Given the description of an element on the screen output the (x, y) to click on. 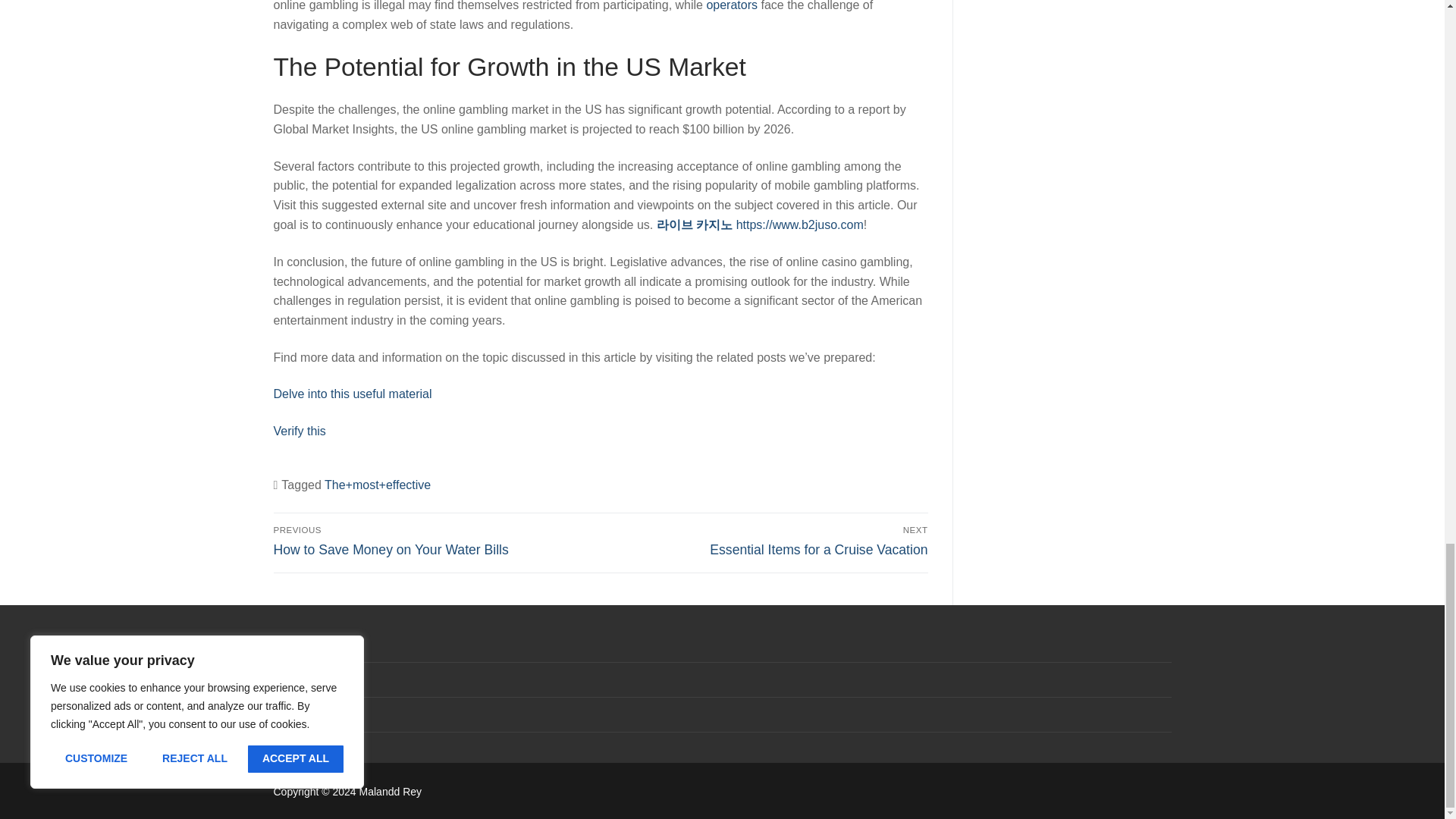
operators (731, 5)
Delve into this useful material (351, 393)
Verify this (767, 541)
